Given the description of an element on the screen output the (x, y) to click on. 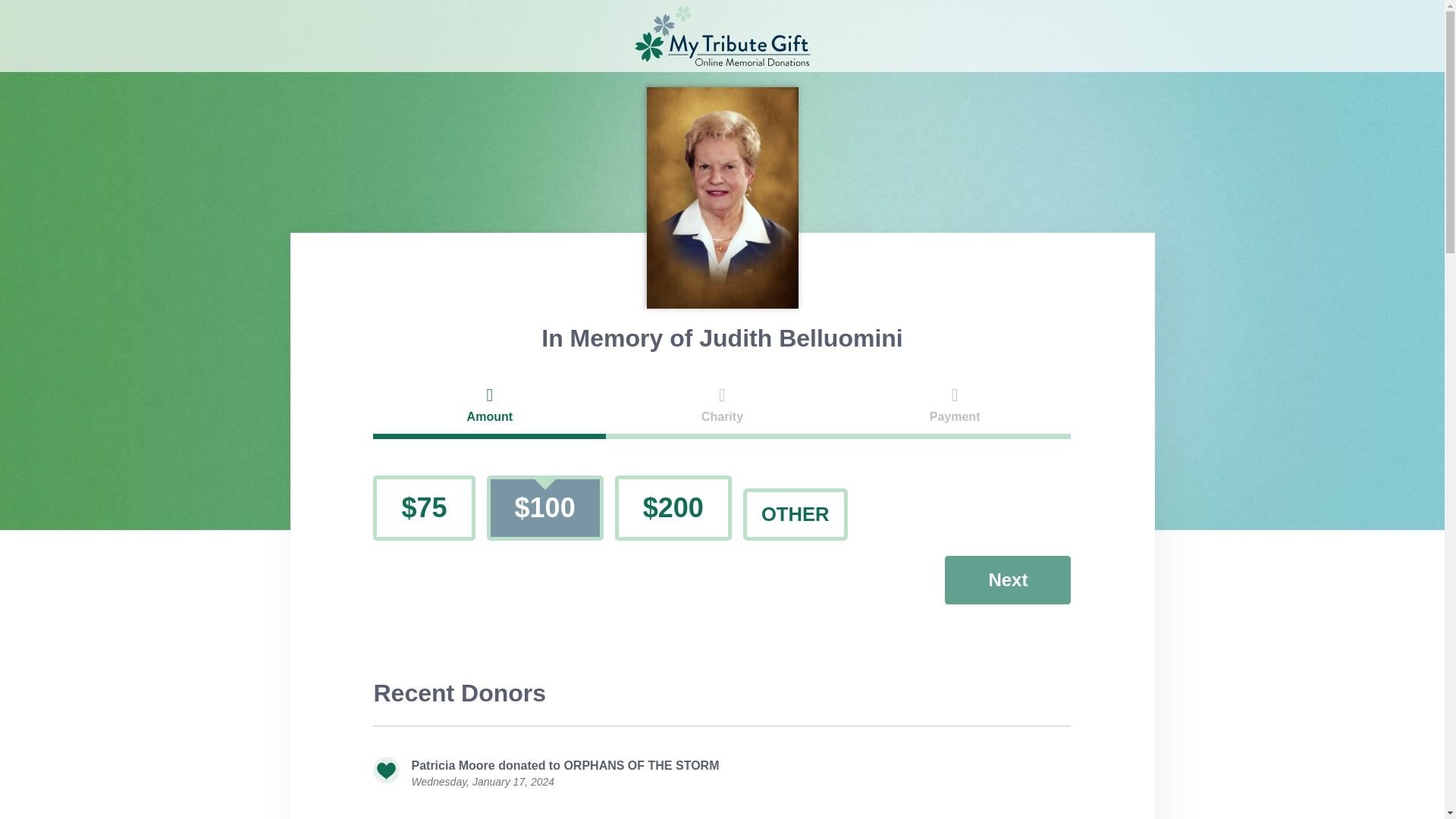
Next (1007, 580)
Next (1007, 580)
